Given the description of an element on the screen output the (x, y) to click on. 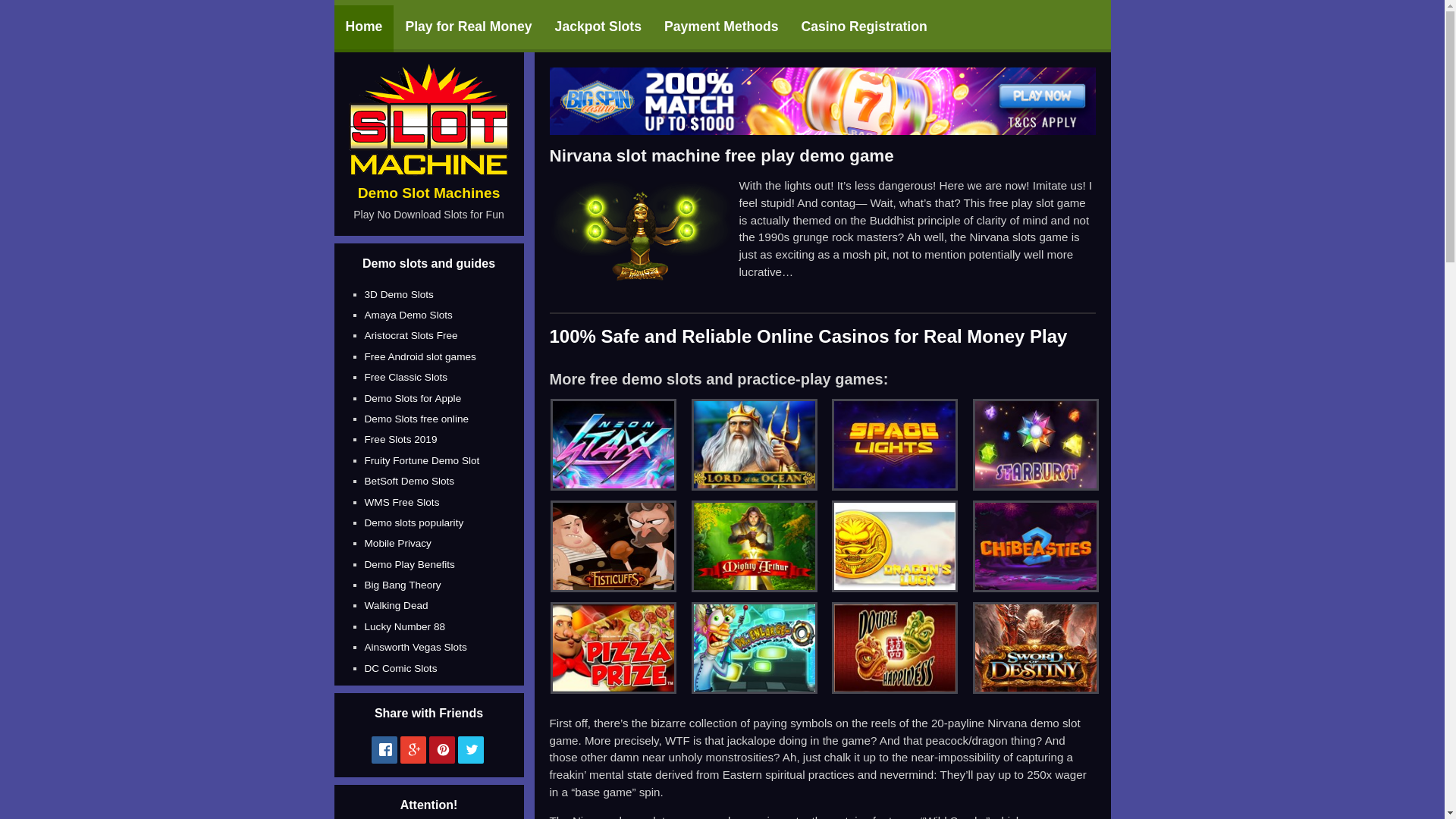
Jackpot Slots (597, 28)
You are here. (363, 28)
Play for Real Money (468, 28)
Casino Registration (864, 28)
Demo slot machines (429, 171)
Payment Methods (721, 28)
Home (363, 28)
